Given the description of an element on the screen output the (x, y) to click on. 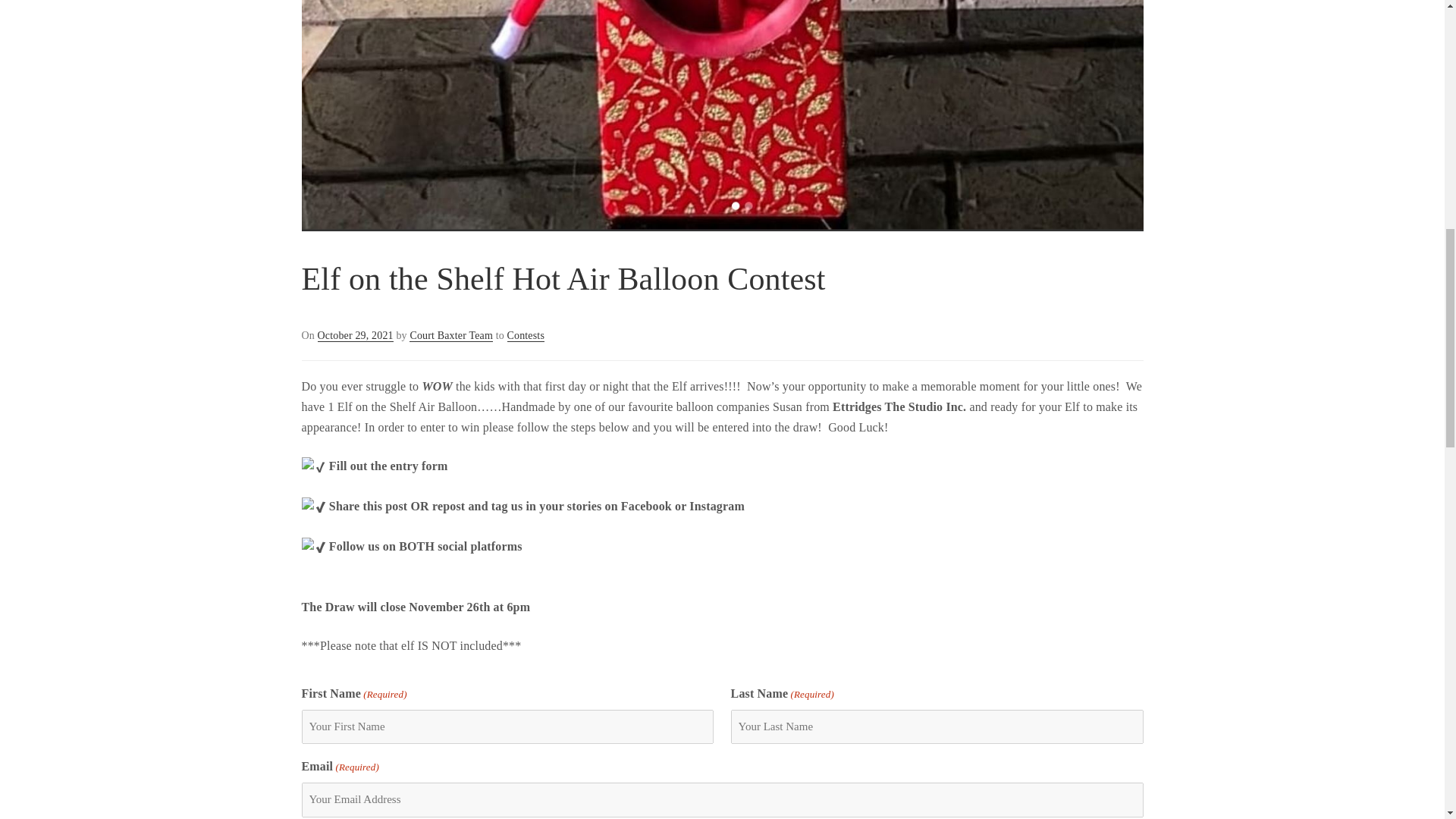
October 29, 2021 (355, 336)
Court Baxter Team (451, 336)
Contests (525, 336)
